Given the description of an element on the screen output the (x, y) to click on. 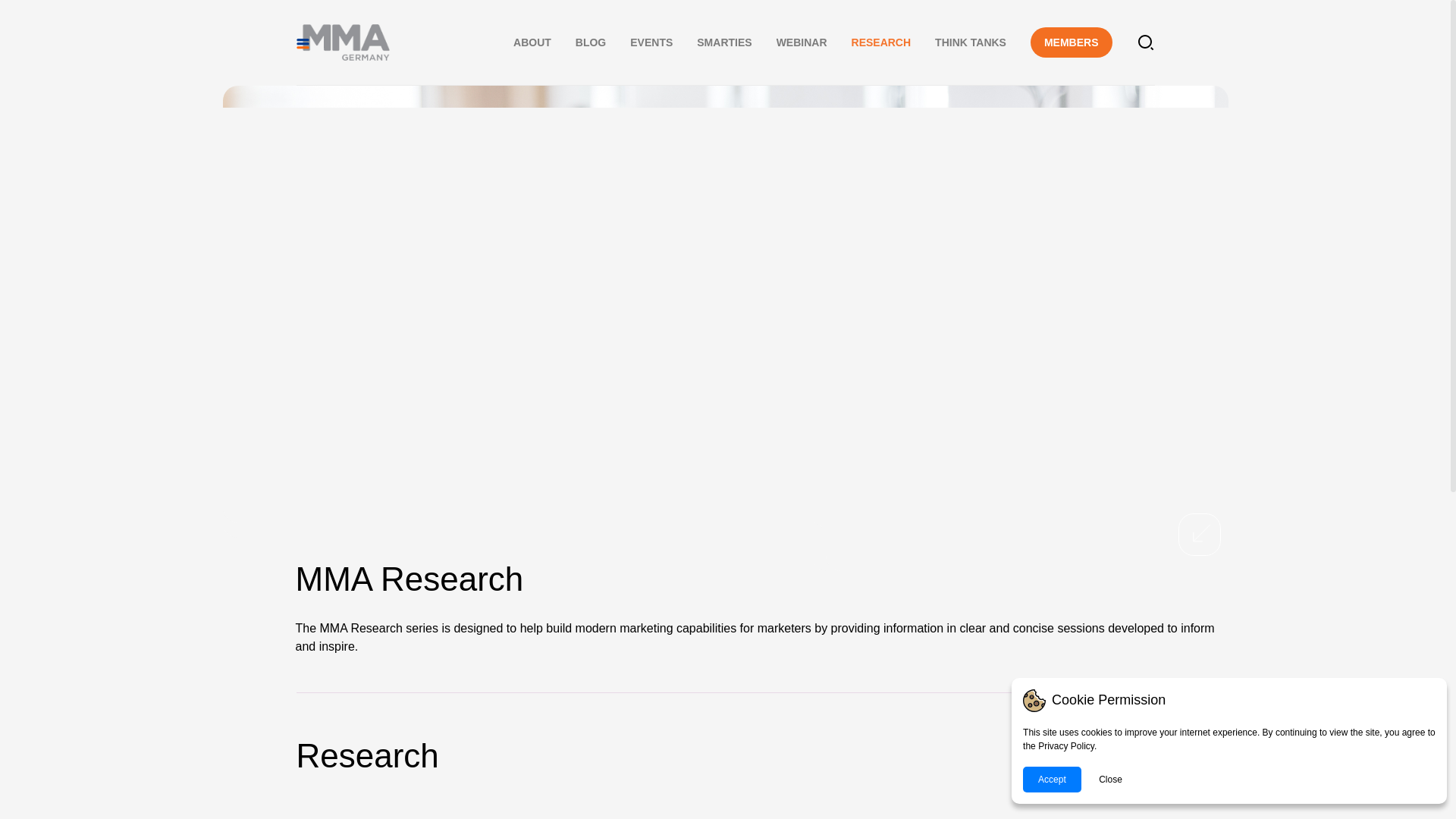
THINK TANKS (970, 42)
EVENTS (651, 42)
BLOG (590, 42)
SMARTIES (724, 42)
MEMBERS (1071, 42)
Research (366, 756)
RESEARCH (881, 42)
ABOUT (532, 42)
All (1126, 755)
WEBINAR (801, 42)
